Given the description of an element on the screen output the (x, y) to click on. 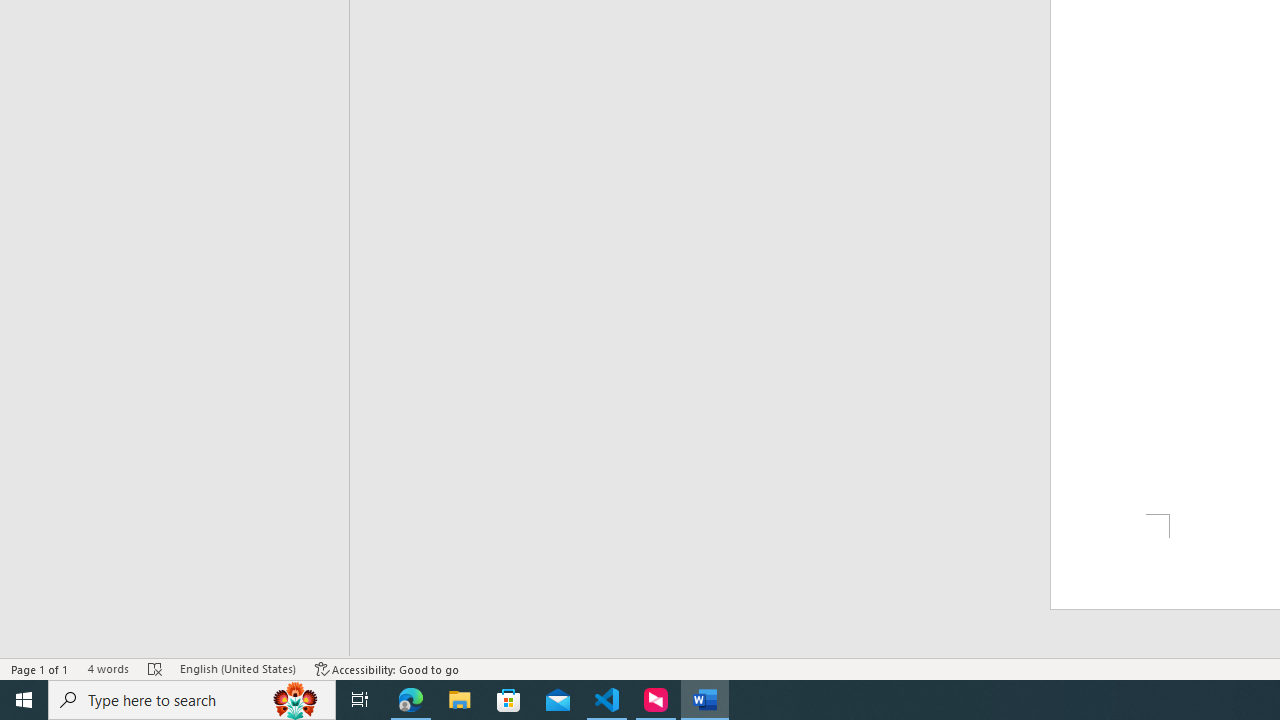
Page Number Page 1 of 1 (39, 668)
